Given the description of an element on the screen output the (x, y) to click on. 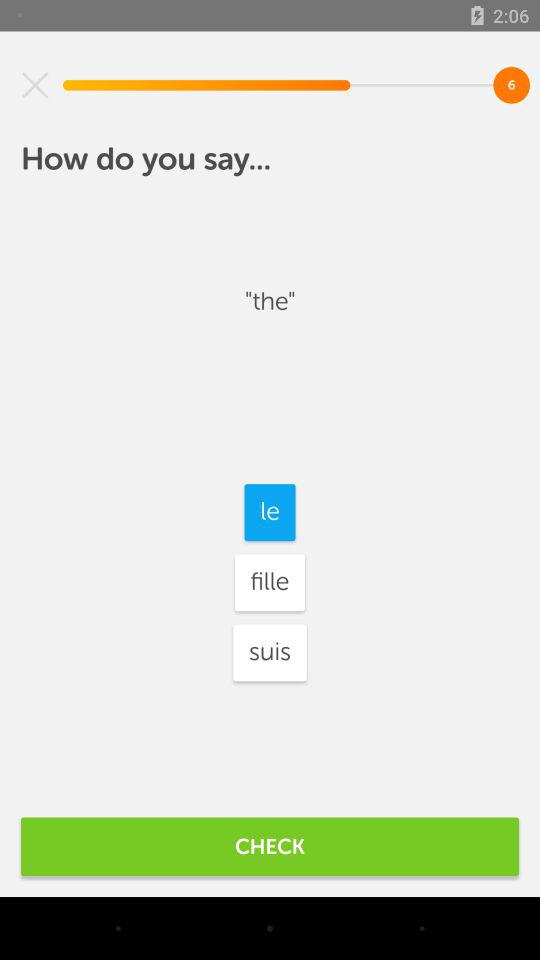
turn off the icon above how do you icon (35, 85)
